Given the description of an element on the screen output the (x, y) to click on. 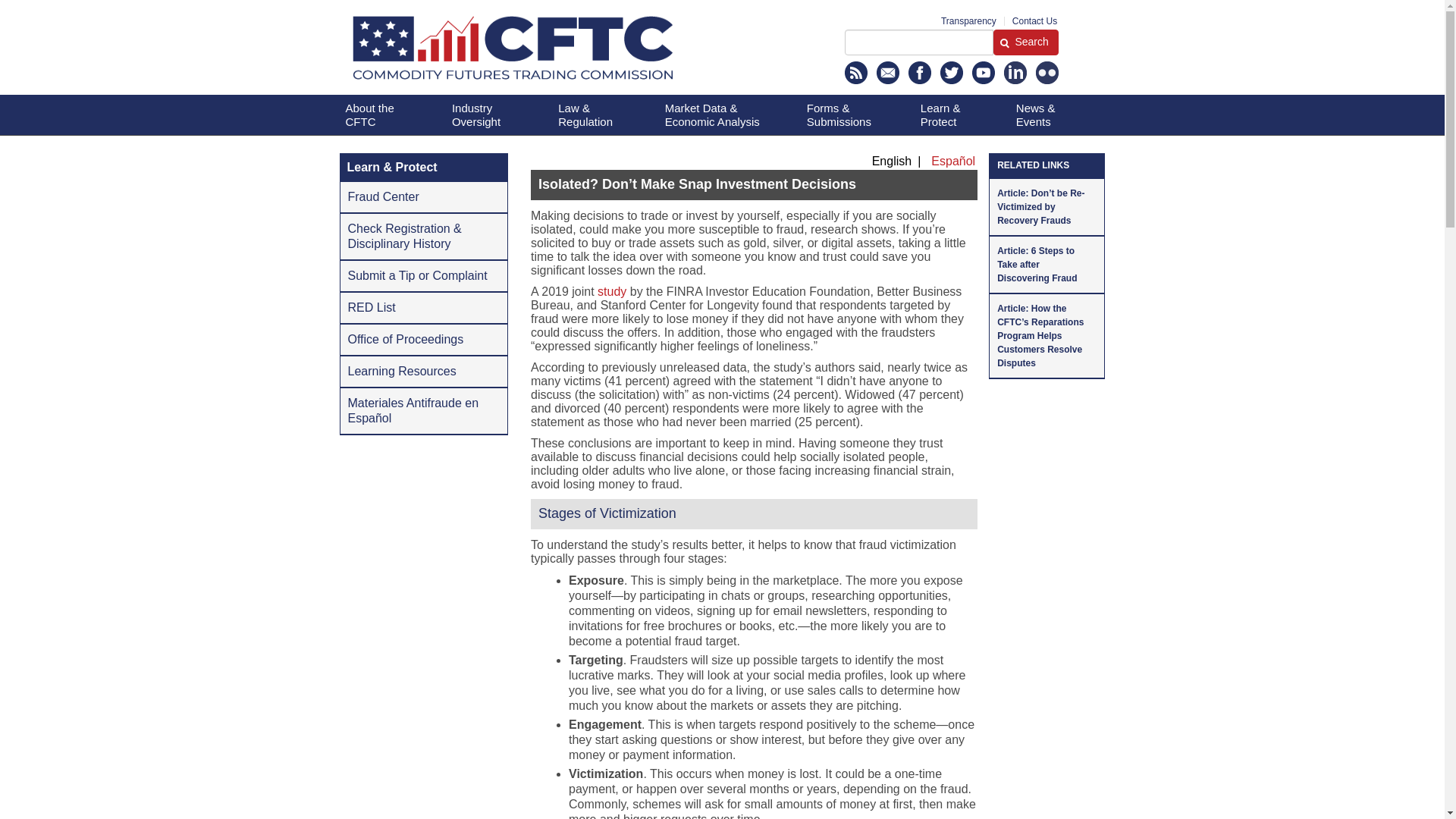
Search (1025, 42)
Search (918, 42)
Industry Oversight (487, 114)
Home (551, 52)
Contact Us (1034, 20)
About the CFTC (381, 114)
Transparency (967, 20)
